Given the description of an element on the screen output the (x, y) to click on. 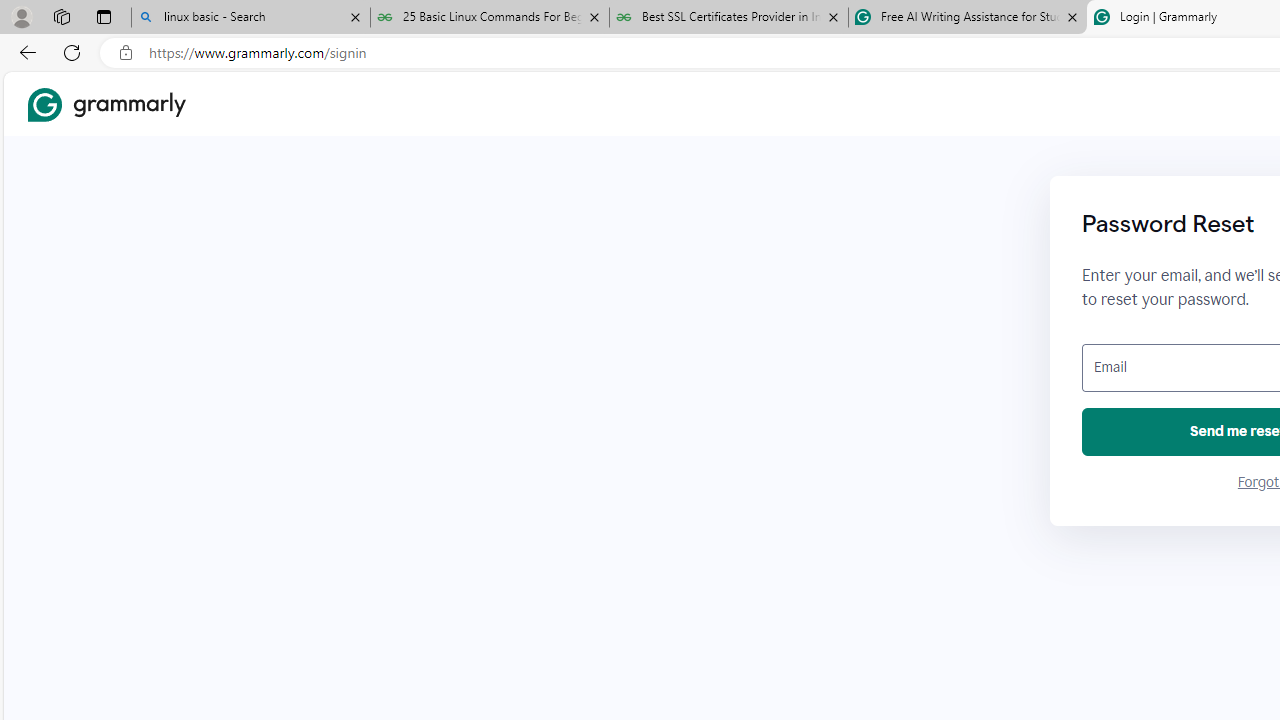
25 Basic Linux Commands For Beginners - GeeksforGeeks (490, 17)
Grammarly Home (106, 104)
linux basic - Search (250, 17)
Free AI Writing Assistance for Students | Grammarly (967, 17)
Grammarly Home (106, 103)
Best SSL Certificates Provider in India - GeeksforGeeks (729, 17)
